Given the description of an element on the screen output the (x, y) to click on. 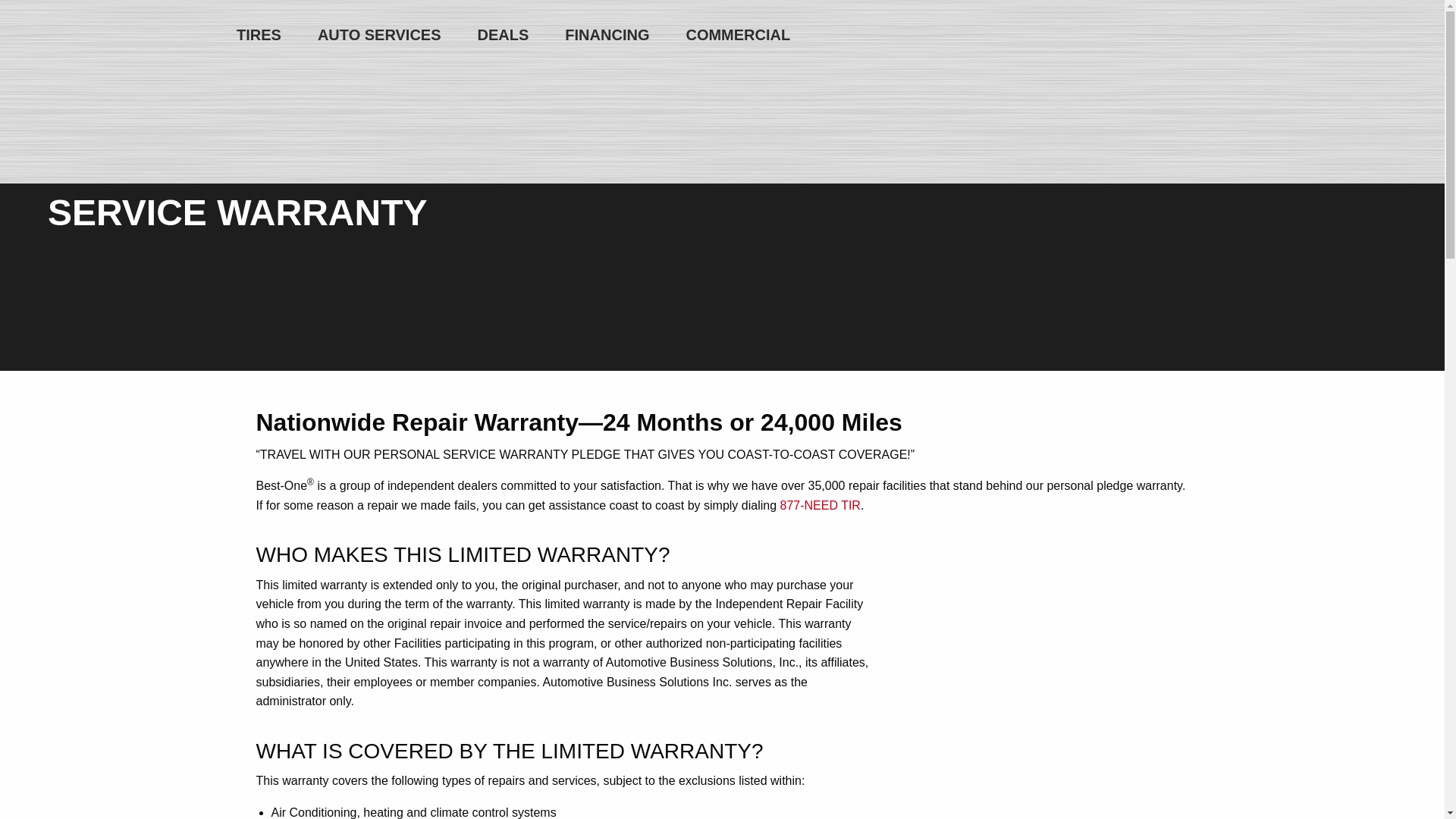
DEALS (503, 34)
COMMERCIAL (737, 34)
TIRES (258, 34)
AUTO SERVICES (379, 34)
FINANCING (606, 34)
877-NEED TIR (819, 504)
